Given the description of an element on the screen output the (x, y) to click on. 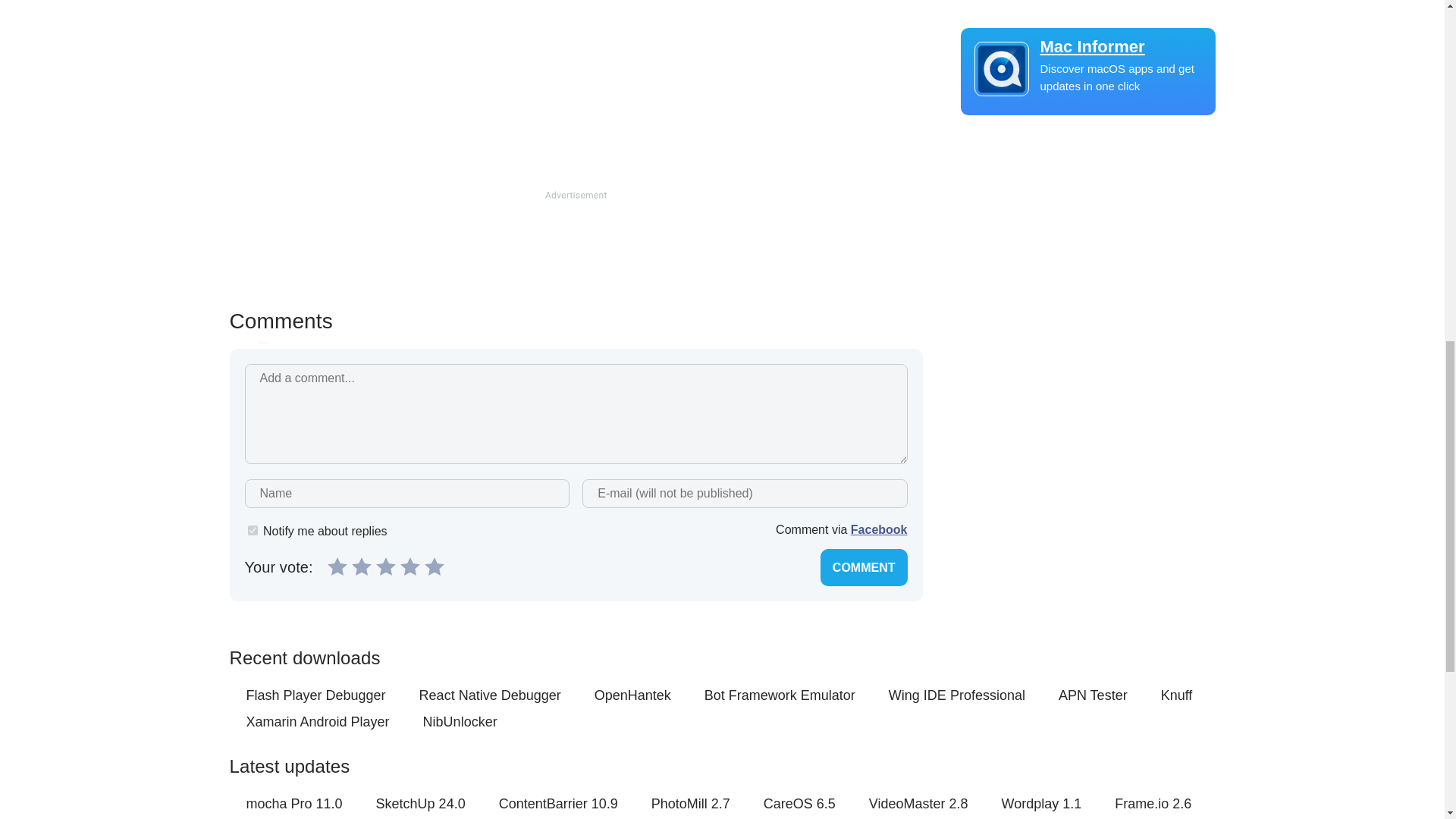
4 (409, 565)
1 (336, 565)
3 (385, 565)
Mac Informer (1087, 46)
5 (434, 565)
Comment (864, 567)
2 (361, 565)
1 (252, 530)
Flash Player Debugger (315, 695)
React Native Debugger (489, 695)
Comment (864, 567)
